Given the description of an element on the screen output the (x, y) to click on. 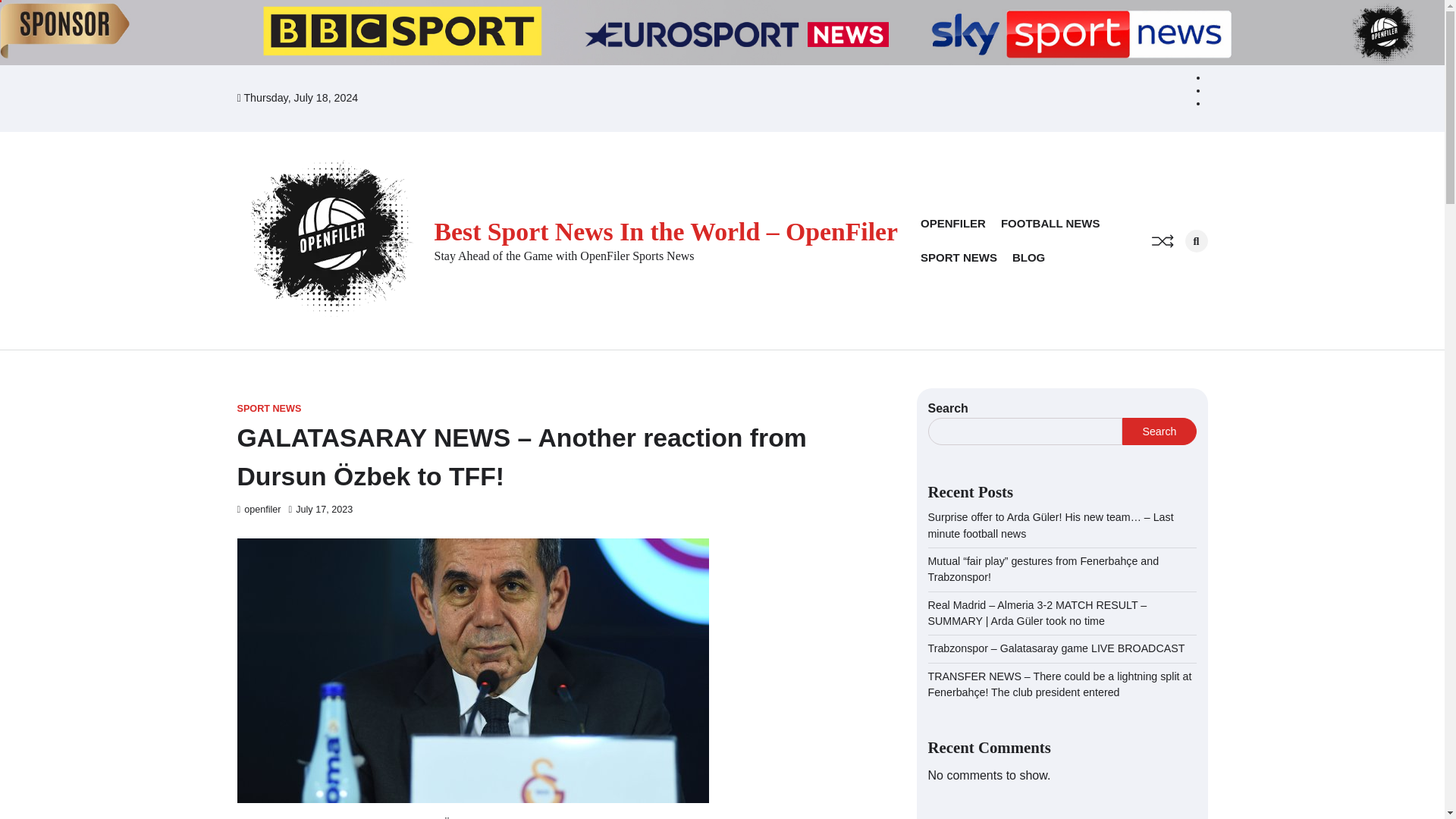
Search (1170, 273)
SPORT NEWS (268, 408)
OPENFILER (952, 224)
July 17, 2023 (320, 509)
BLOG (1028, 257)
Search (1196, 241)
openfiler (258, 509)
SPORT NEWS (958, 257)
Search (1158, 431)
FOOTBALL NEWS (1050, 224)
